Given the description of an element on the screen output the (x, y) to click on. 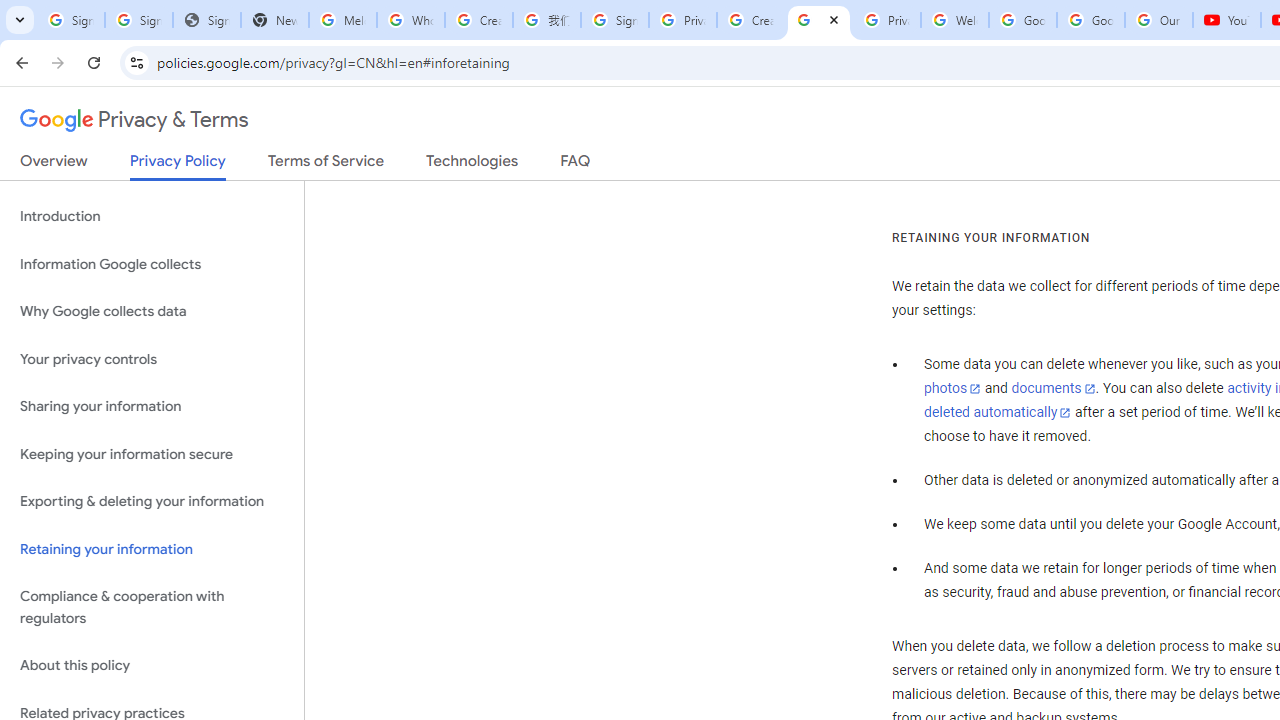
photos (952, 389)
Create your Google Account (750, 20)
Create your Google Account (479, 20)
